Given the description of an element on the screen output the (x, y) to click on. 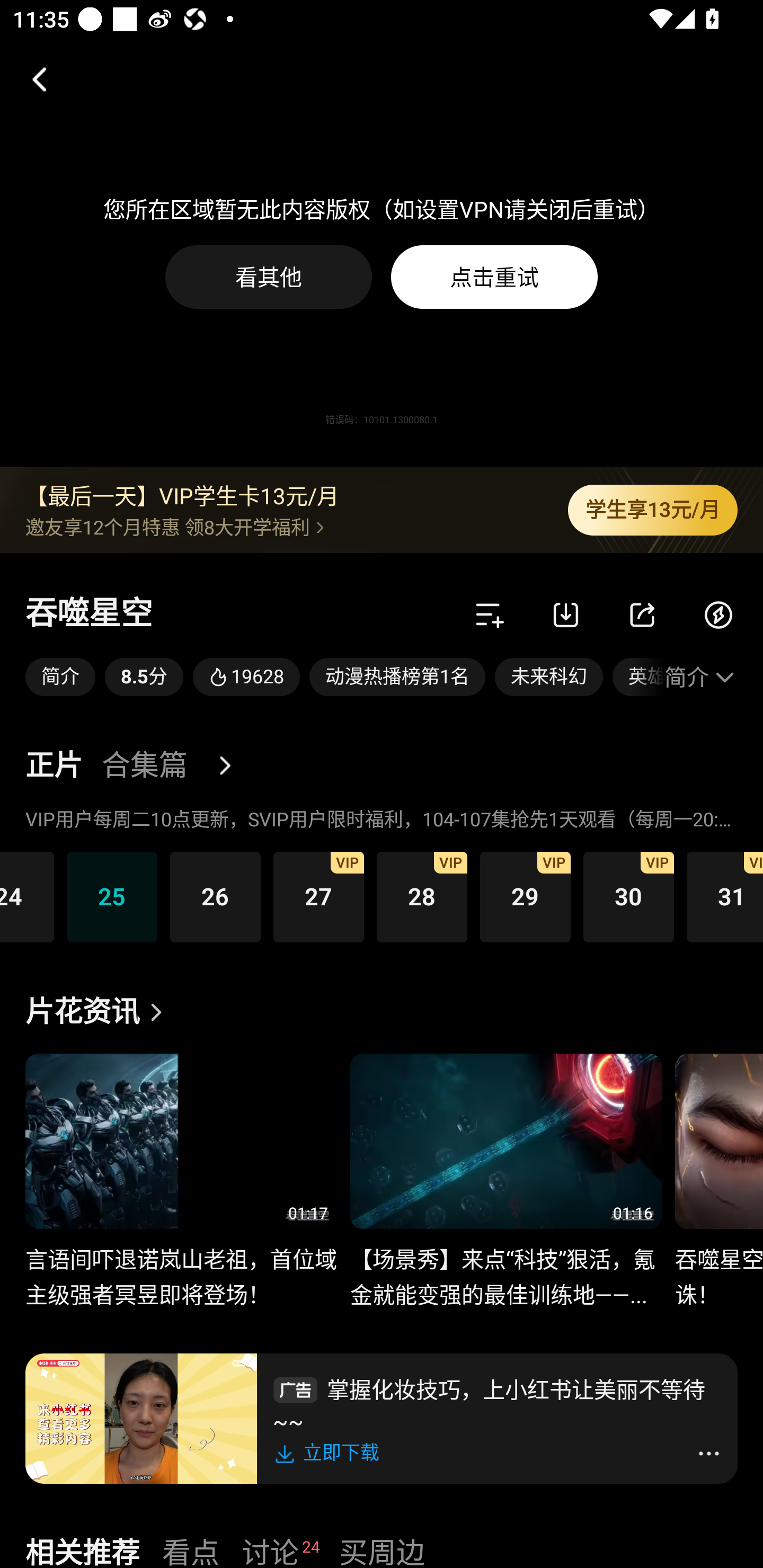
返回，按钮 (31, 78)
看其他 您所在区域暂无此内容版权（如设置VPN请关闭后重试） 看其他按钮 (268, 276)
点击重试 您所在区域暂无此内容版权（如设置VPN请关闭后重试） 点击重试按钮 (493, 276)
学生享13元/月 (652, 510)
邀友享12个月特惠 领8大开学福利 (283, 526)
吞噬星空 (88, 614)
加追,双击可加追,按钮 (489, 614)
下载,链接 (566, 614)
分享,链接 (642, 614)
发电,链接 (718, 614)
简介 简介,链接 (60, 677)
8.5分 8.5分,链接 (144, 677)
19628 热度值 19628,链接 (246, 677)
动漫热播榜第1名 动漫热播榜第1名,链接 (397, 677)
未来科幻 未来科幻,链接 (548, 677)
英雄成长 英雄成长,链接 (638, 677)
简介 (700, 677)
正片 (53, 765)
合集篇 (144, 765)
更多,链接 (231, 765)
第24集 24 (27, 896)
第25集 25 (112, 896)
第26集 26 (215, 896)
第27集 27 (318, 896)
第28集 28 (421, 896)
第29集 29 (524, 896)
第30集 30 (628, 896)
第31集 31 (724, 896)
片花资讯 链接 (98, 1011)
言语间吓退诺岚山老祖，首位域主级强者冥昱即将登场！ (181, 1267)
【场景秀】来点“科技”狠活，氪金就能变强的最佳训练地——... (506, 1267)
imgimg掌握化妆技巧，上小红书让美丽不等待~~ (497, 1403)
立即下载 (330, 1452)
相关推荐 (82, 1549)
看点 (190, 1549)
讨论 (270, 1549)
买周边 (381, 1549)
